Given the description of an element on the screen output the (x, y) to click on. 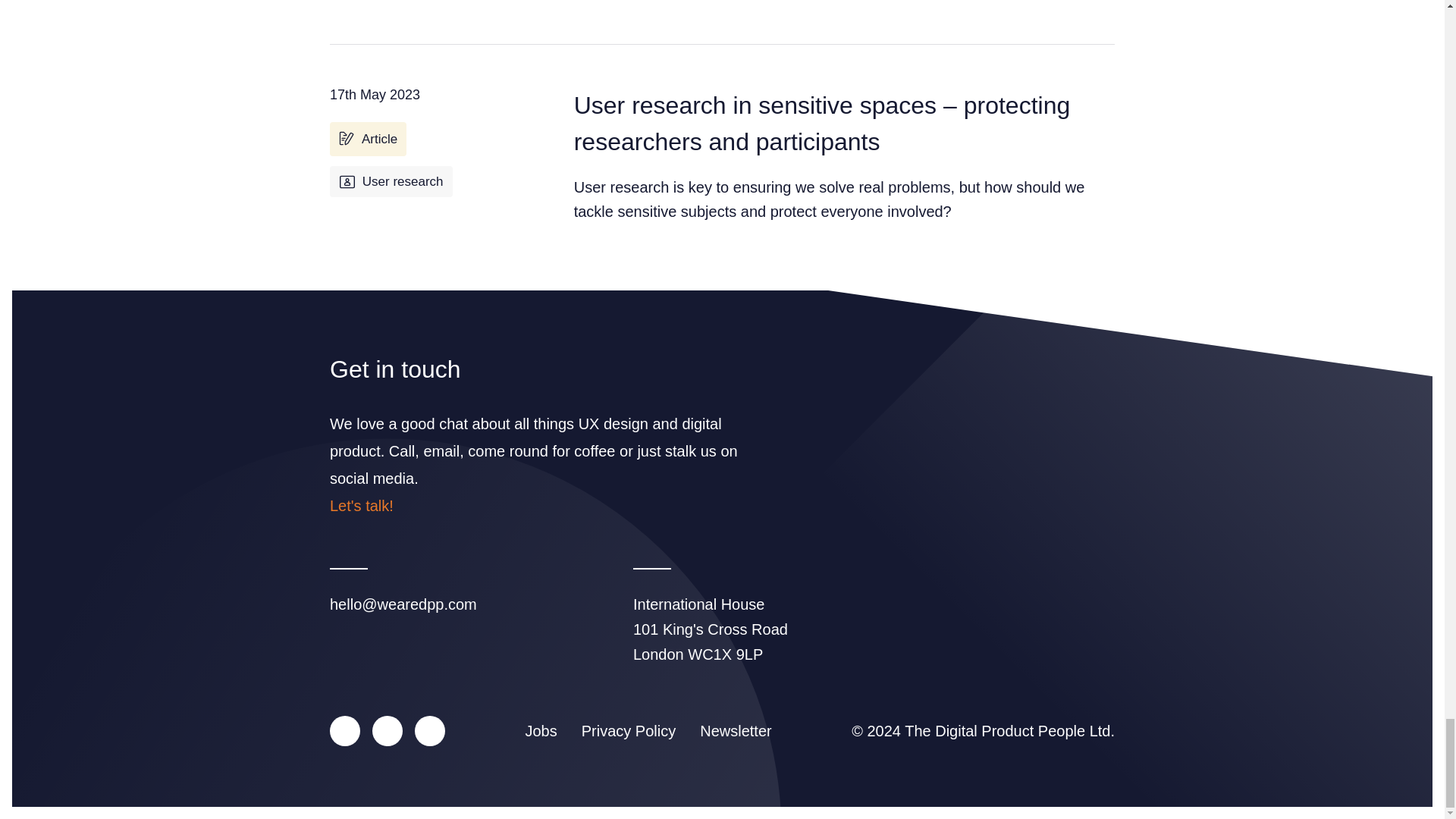
User research (391, 182)
Newsletter (735, 730)
Article (368, 139)
Privacy Policy (628, 730)
Jobs (539, 730)
Let's talk! (361, 505)
